Given the description of an element on the screen output the (x, y) to click on. 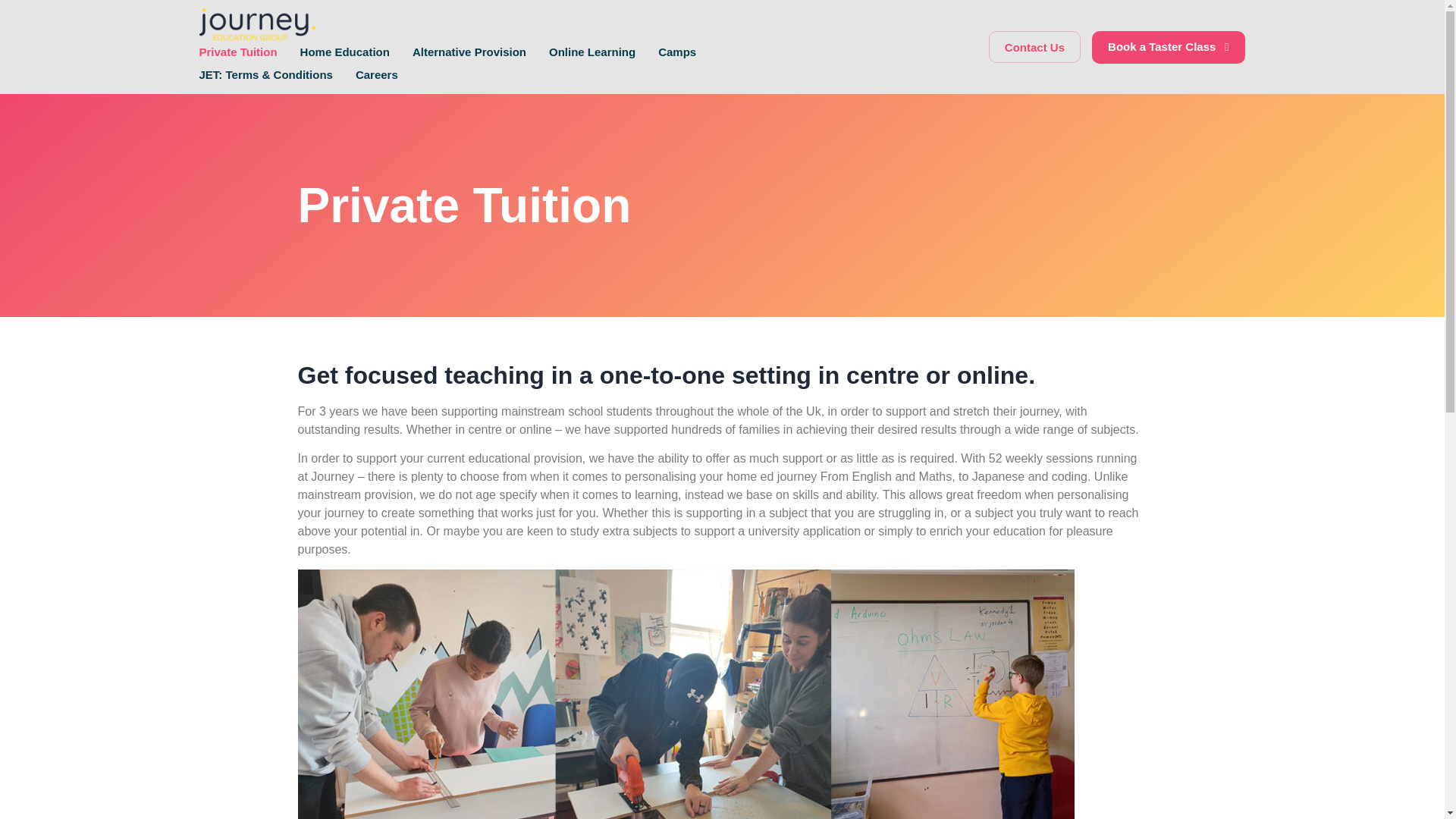
Private Tuition (237, 51)
Contact Us (1034, 47)
Book a Taster Class (1168, 47)
Camps (676, 51)
Home Education (344, 51)
Online Learning (591, 51)
Alternative Provision (468, 51)
Careers (376, 74)
